Given the description of an element on the screen output the (x, y) to click on. 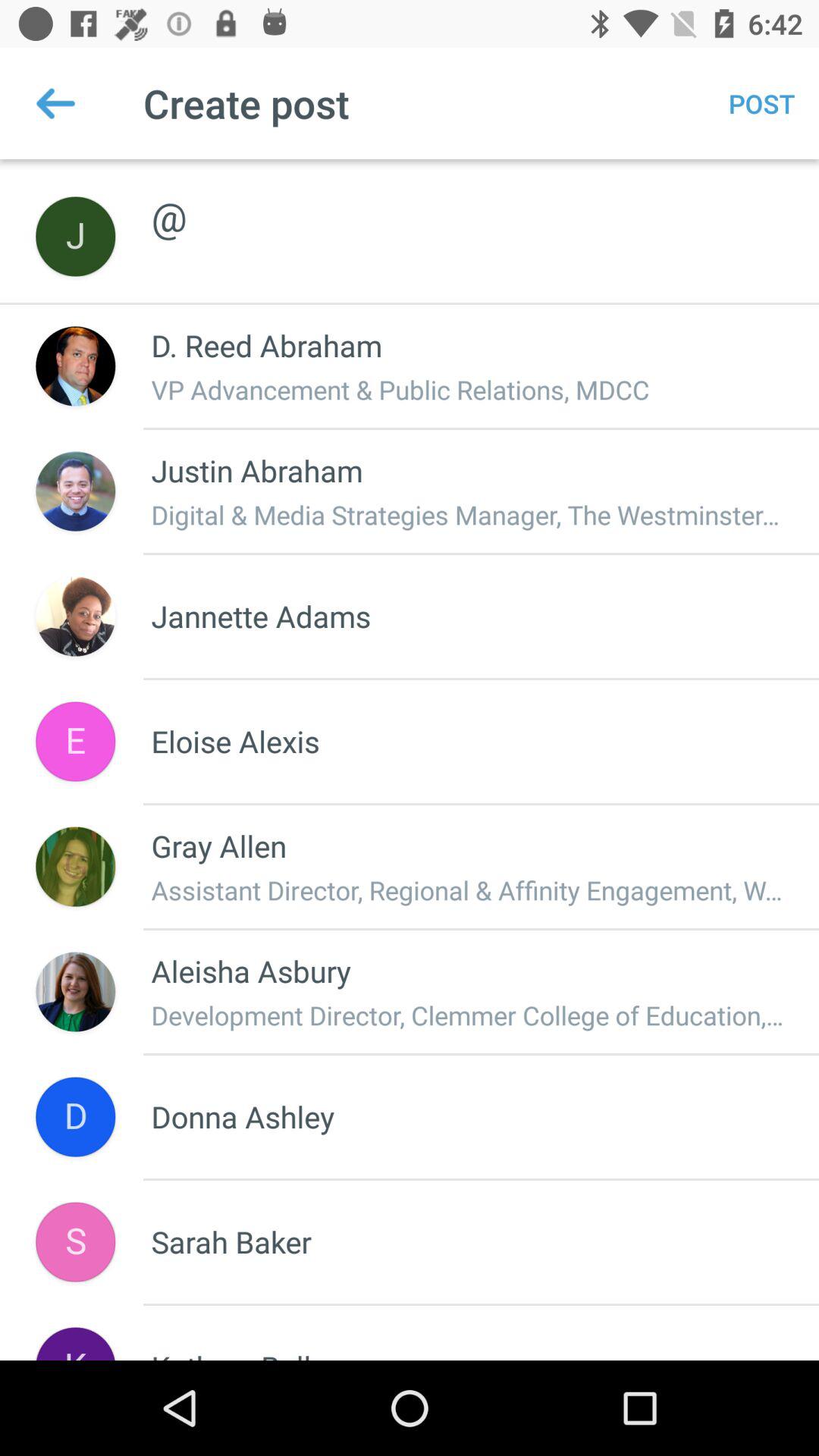
flip until the @ icon (469, 200)
